Given the description of an element on the screen output the (x, y) to click on. 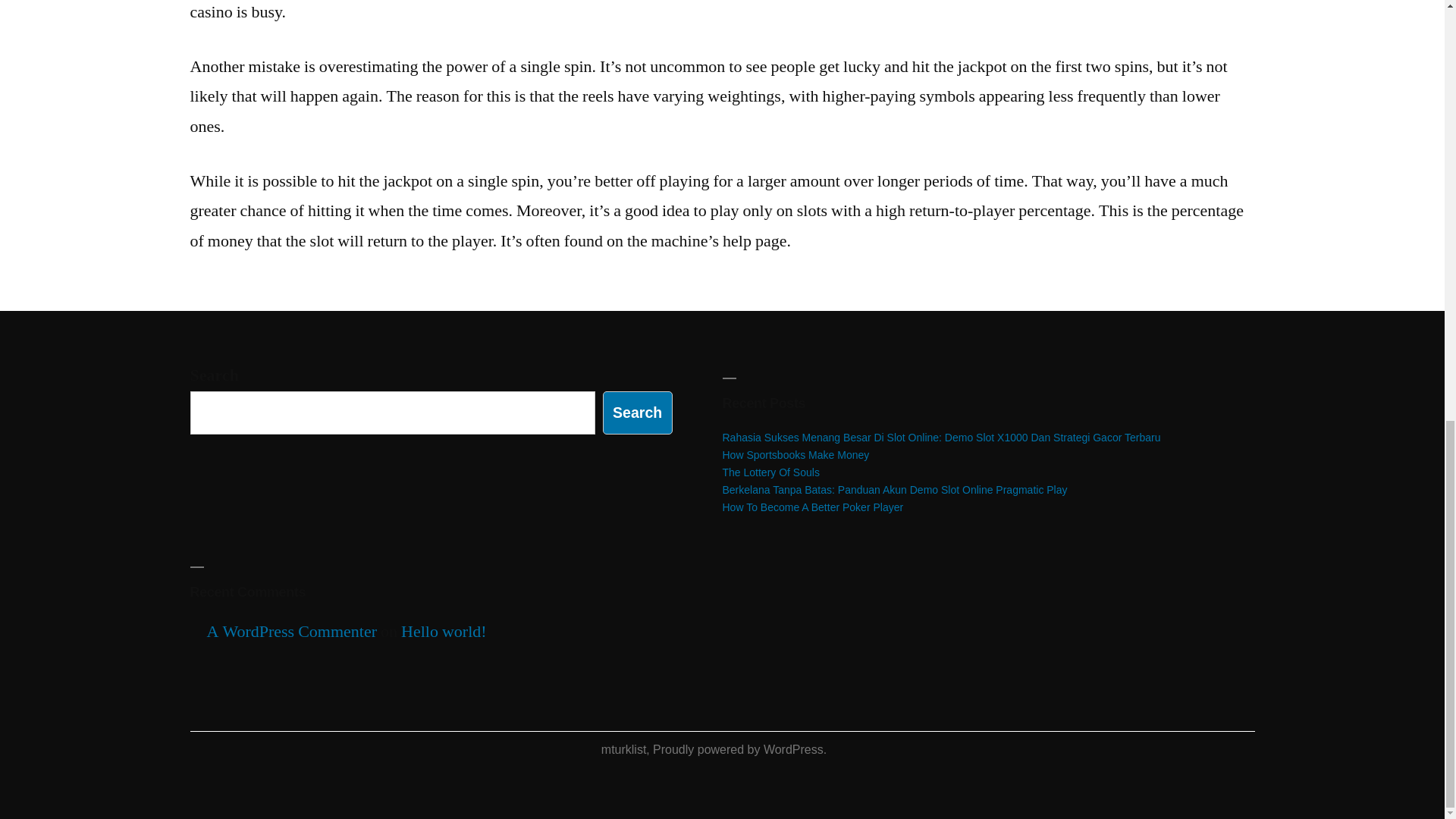
Hello world! (443, 631)
Proudly powered by WordPress. (739, 748)
The Lottery Of Souls (770, 472)
How To Become A Better Poker Player (812, 507)
mturklist (623, 748)
How Sportsbooks Make Money (795, 454)
Search (637, 412)
A WordPress Commenter (291, 631)
